Given the description of an element on the screen output the (x, y) to click on. 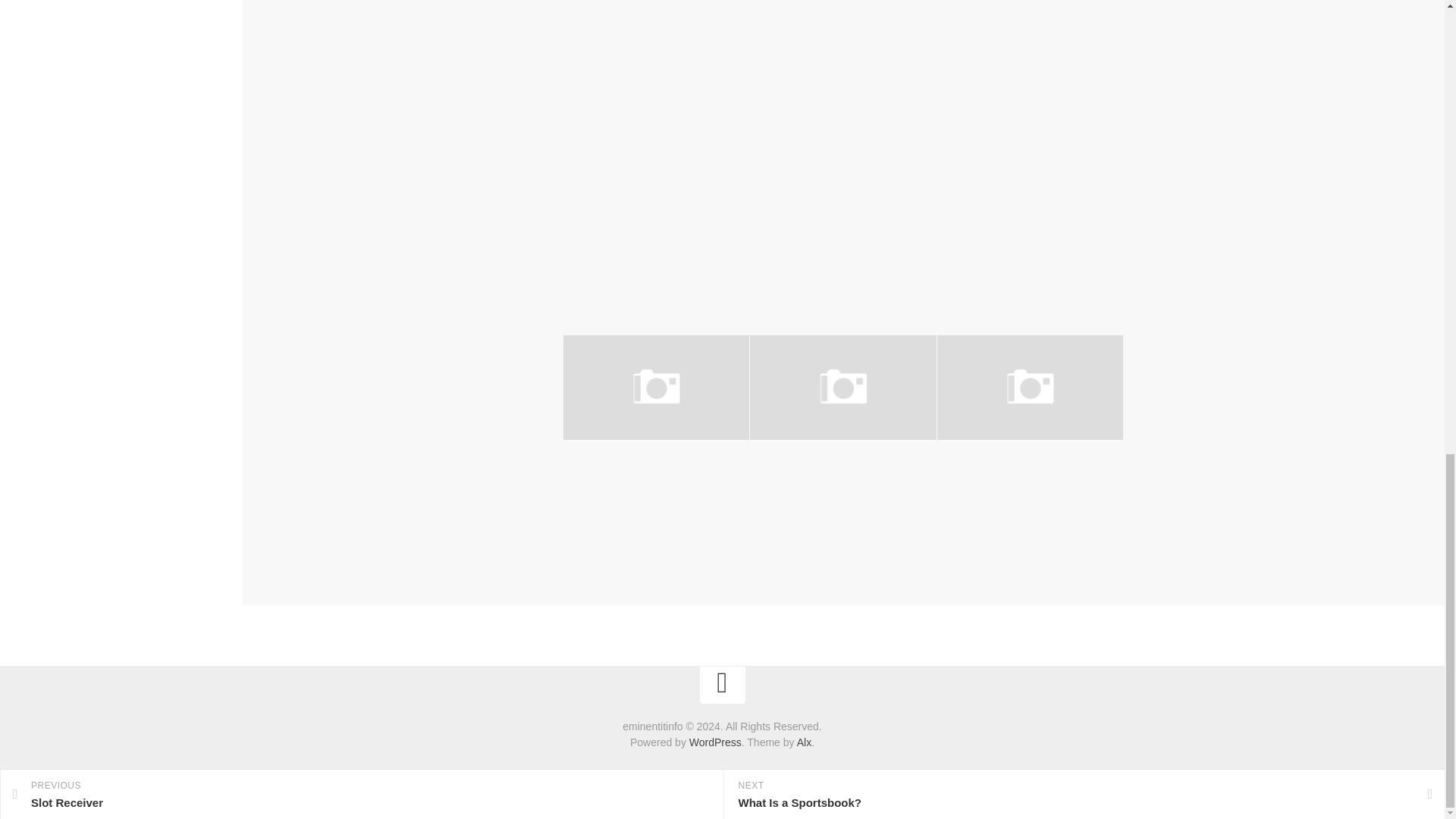
What is a Lottery? (801, 463)
Why You Should Play at a Live Casino Online (1011, 472)
WordPress (714, 742)
What You Need to Know About a Sportsbook (631, 472)
Alx (803, 742)
